Given the description of an element on the screen output the (x, y) to click on. 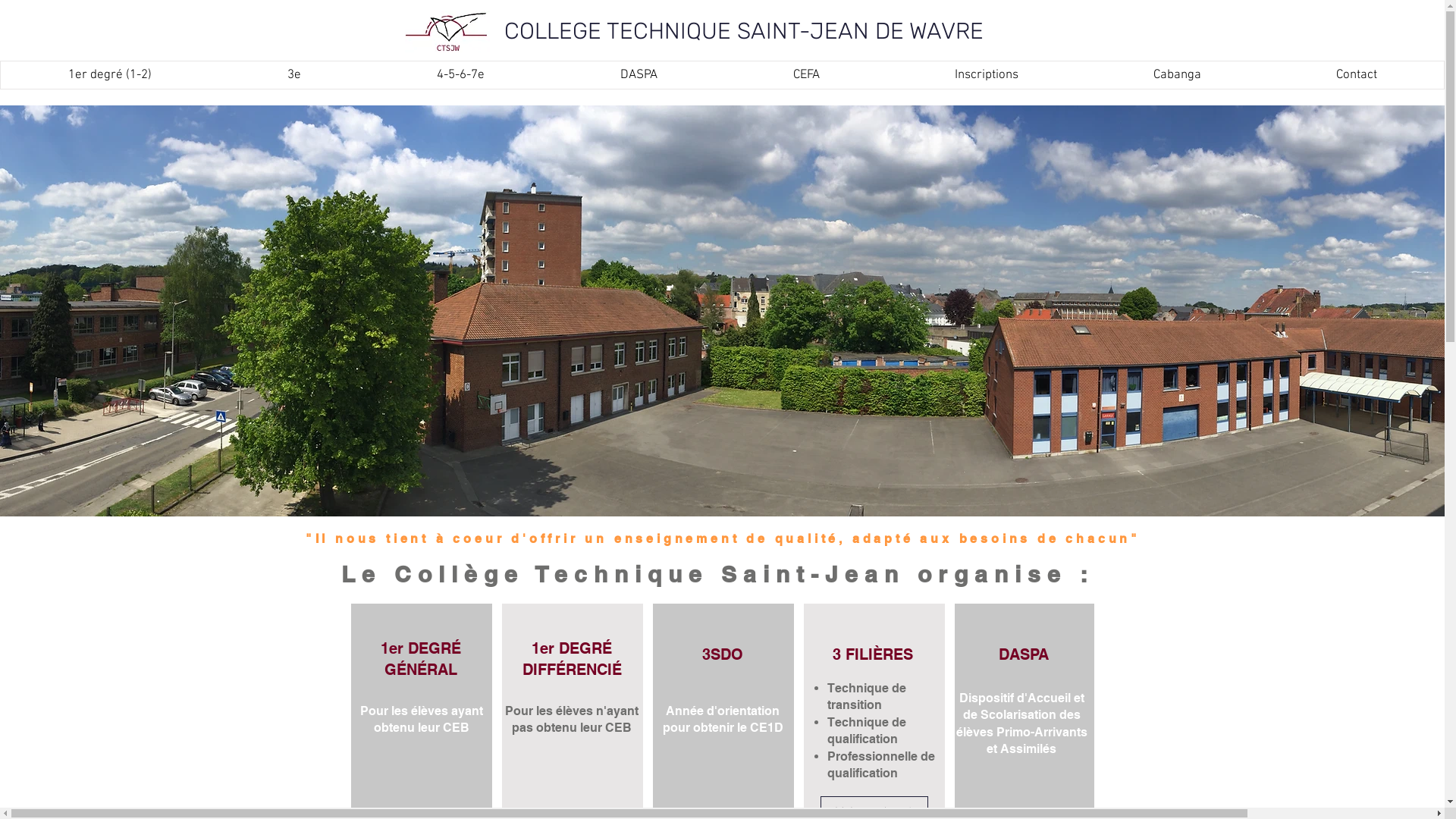
Cabanga Element type: text (1176, 74)
COLLEGE TECHNIQUE SAINT-JEAN DE WAVRE Element type: text (743, 31)
DASPA Element type: text (638, 74)
3e Element type: text (293, 74)
Contact Element type: text (1355, 74)
Inscriptions Element type: text (985, 74)
CEFA Element type: text (805, 74)
4-5-6-7e Element type: text (460, 74)
